Given the description of an element on the screen output the (x, y) to click on. 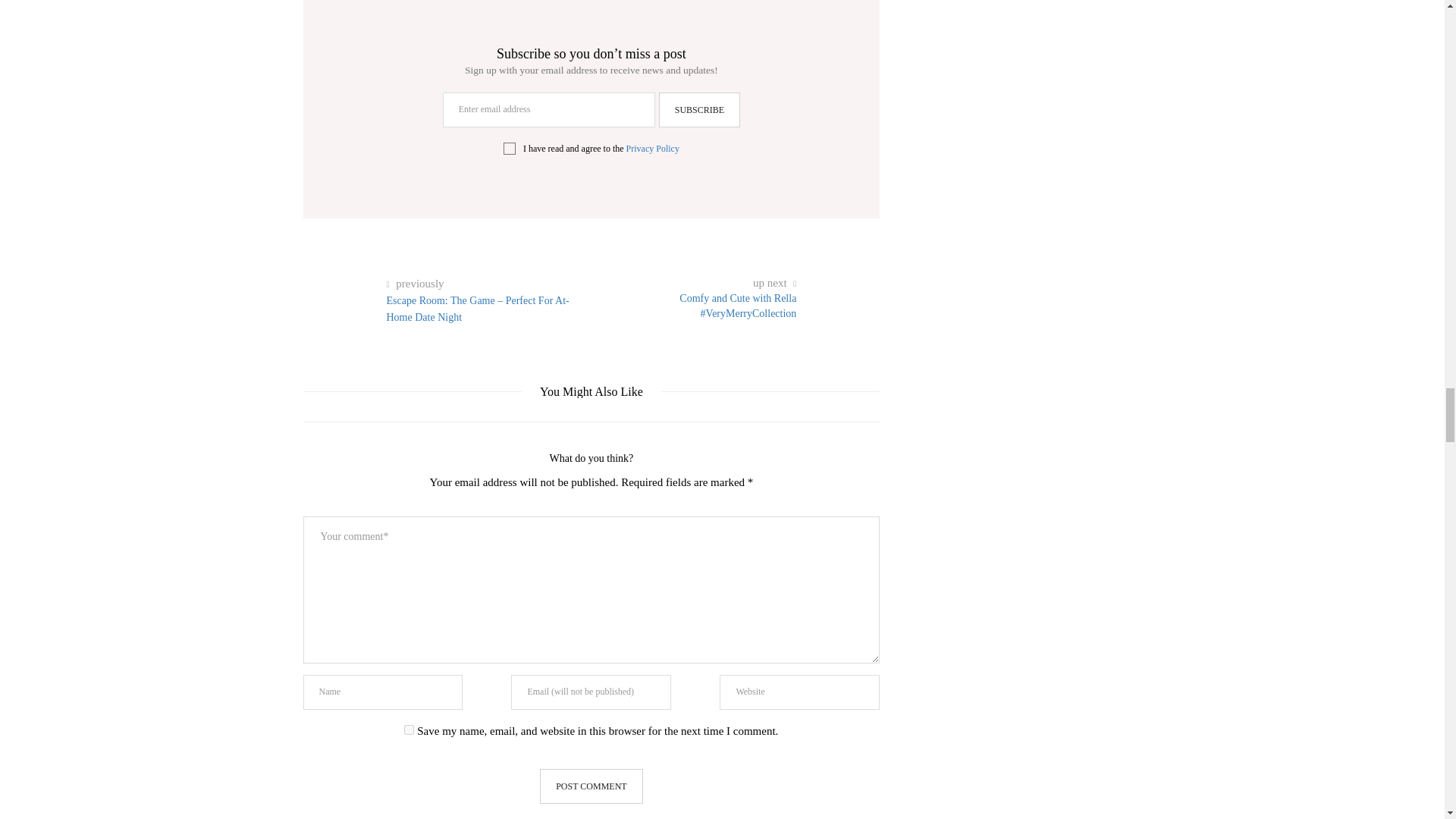
Post comment (591, 786)
yes (408, 729)
Subscribe (699, 109)
